Given the description of an element on the screen output the (x, y) to click on. 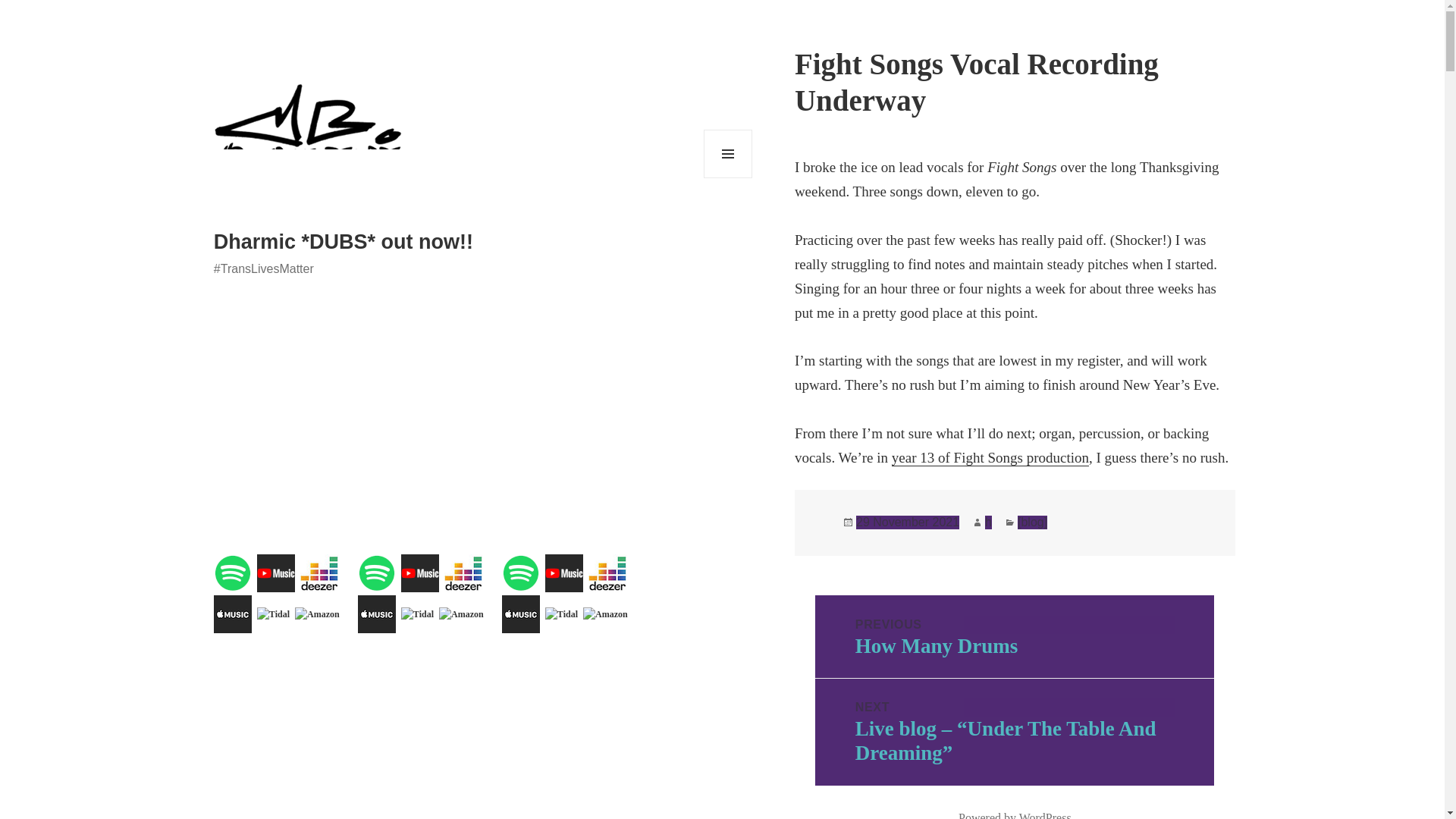
MENU AND WIDGETS (727, 153)
